Given the description of an element on the screen output the (x, y) to click on. 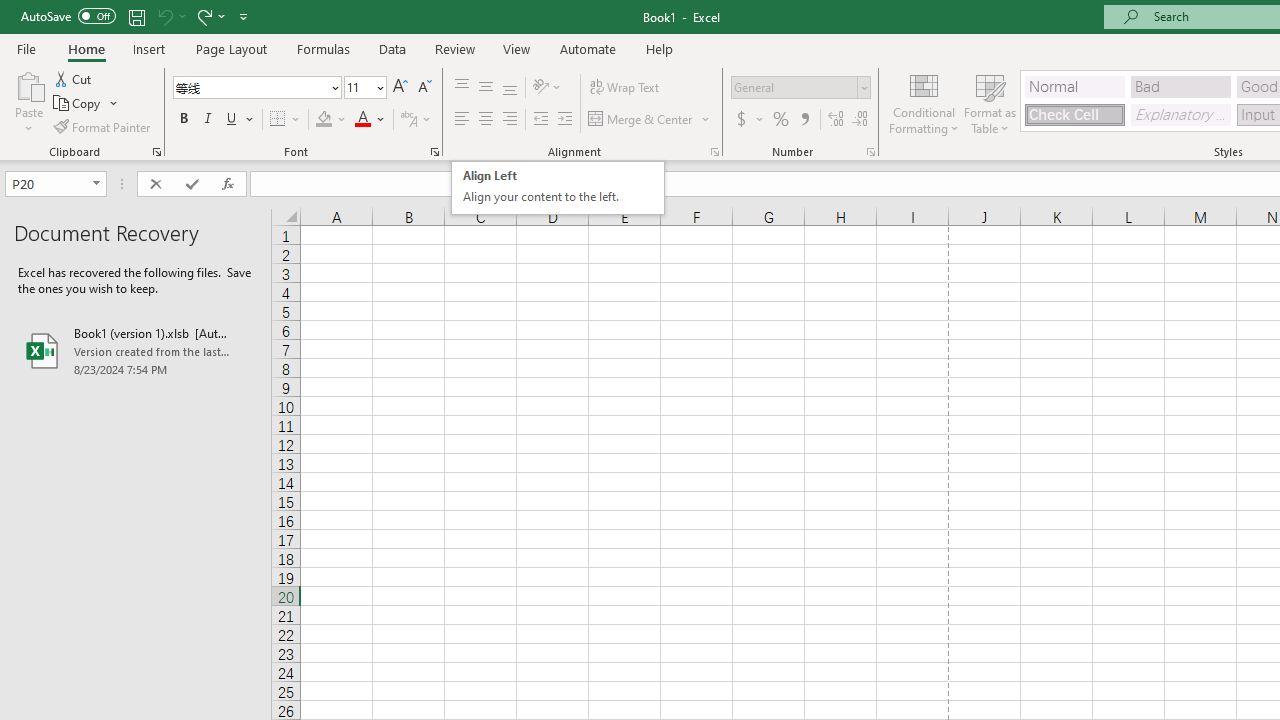
Show Phonetic Field (416, 119)
Font Size (358, 87)
Fill Color RGB(255, 255, 0) (324, 119)
Check Cell (1074, 114)
Decrease Font Size (424, 87)
Number Format (800, 87)
Bottom Border (278, 119)
Show Phonetic Field (408, 119)
